Given the description of an element on the screen output the (x, y) to click on. 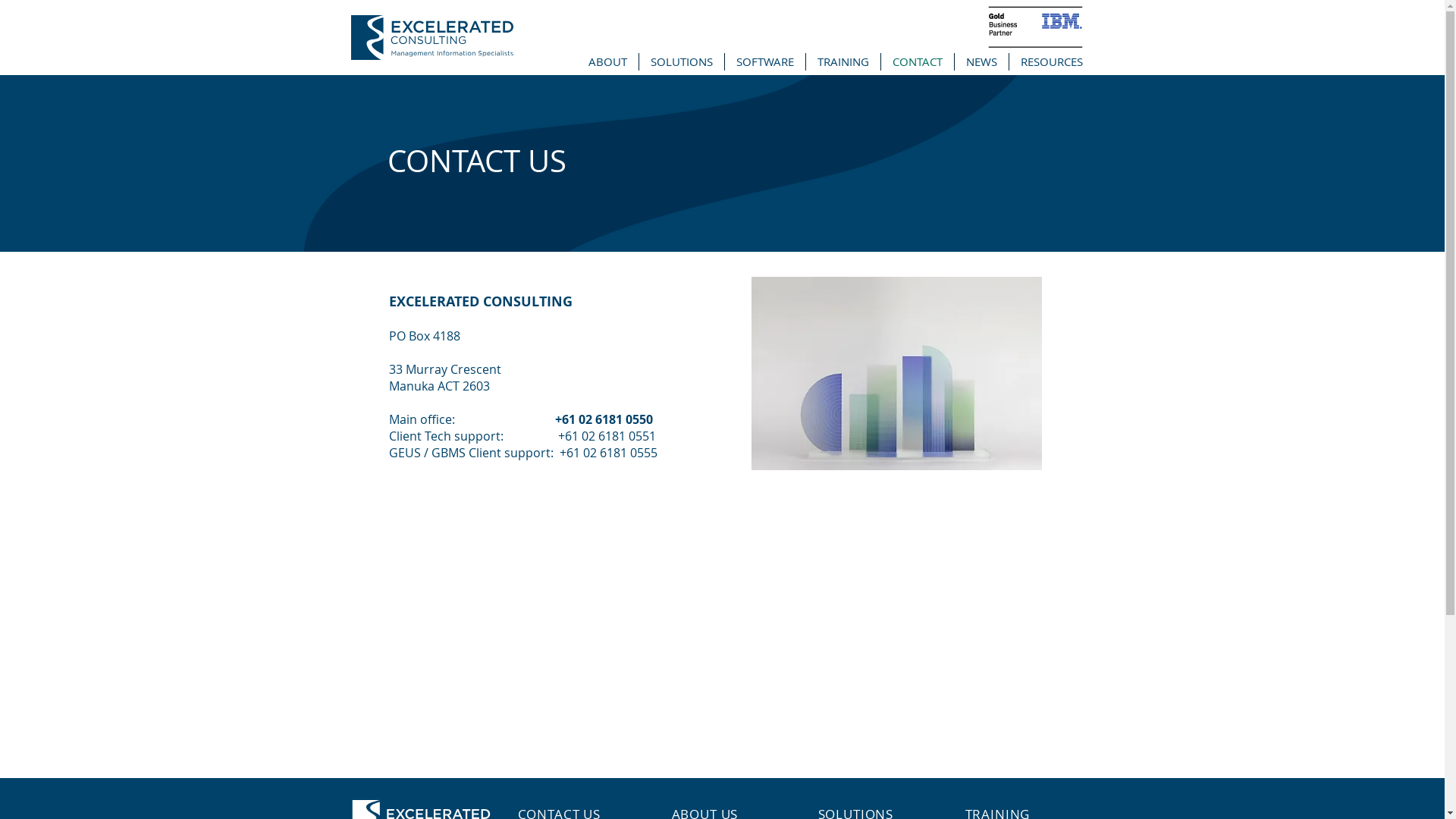
SOLUTIONS Element type: text (680, 61)
CONTACT Element type: text (917, 61)
TRAINING Element type: text (842, 61)
ABOUT Element type: text (606, 61)
SOFTWARE Element type: text (764, 61)
Google Maps Element type: hover (722, 645)
NEWS Element type: text (980, 61)
RESOURCES Element type: text (1050, 61)
